Given the description of an element on the screen output the (x, y) to click on. 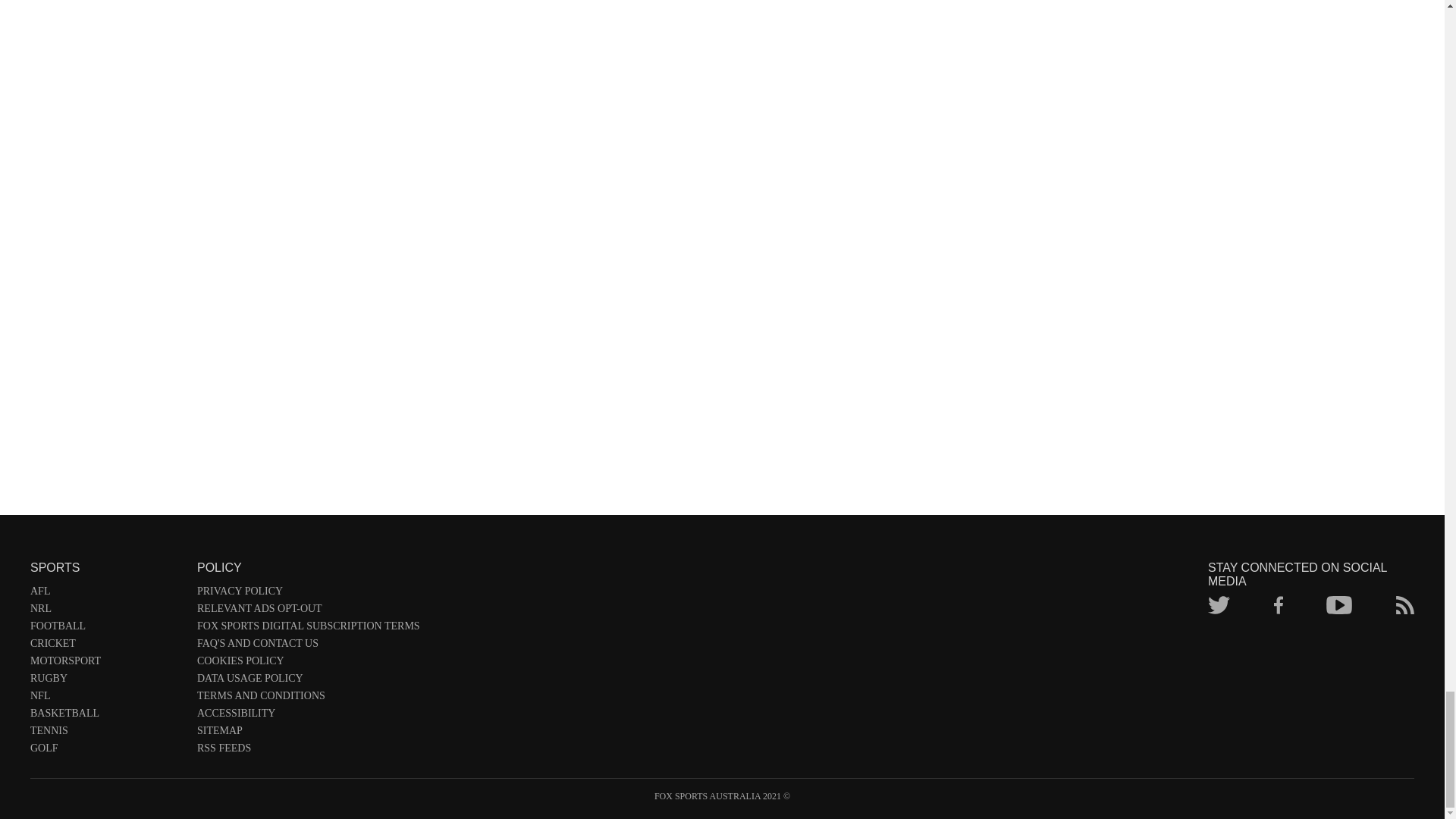
RSS FEEDS (308, 751)
RELEVANT ADS OPT-OUT (308, 610)
FOOTBALL (106, 628)
MOTORSPORT (106, 663)
SITEMAP (308, 733)
GOLF (106, 751)
TERMS AND CONDITIONS (308, 698)
BASKETBALL (106, 715)
CRICKET (106, 646)
PRIVACY POLICY (308, 593)
